Given the description of an element on the screen output the (x, y) to click on. 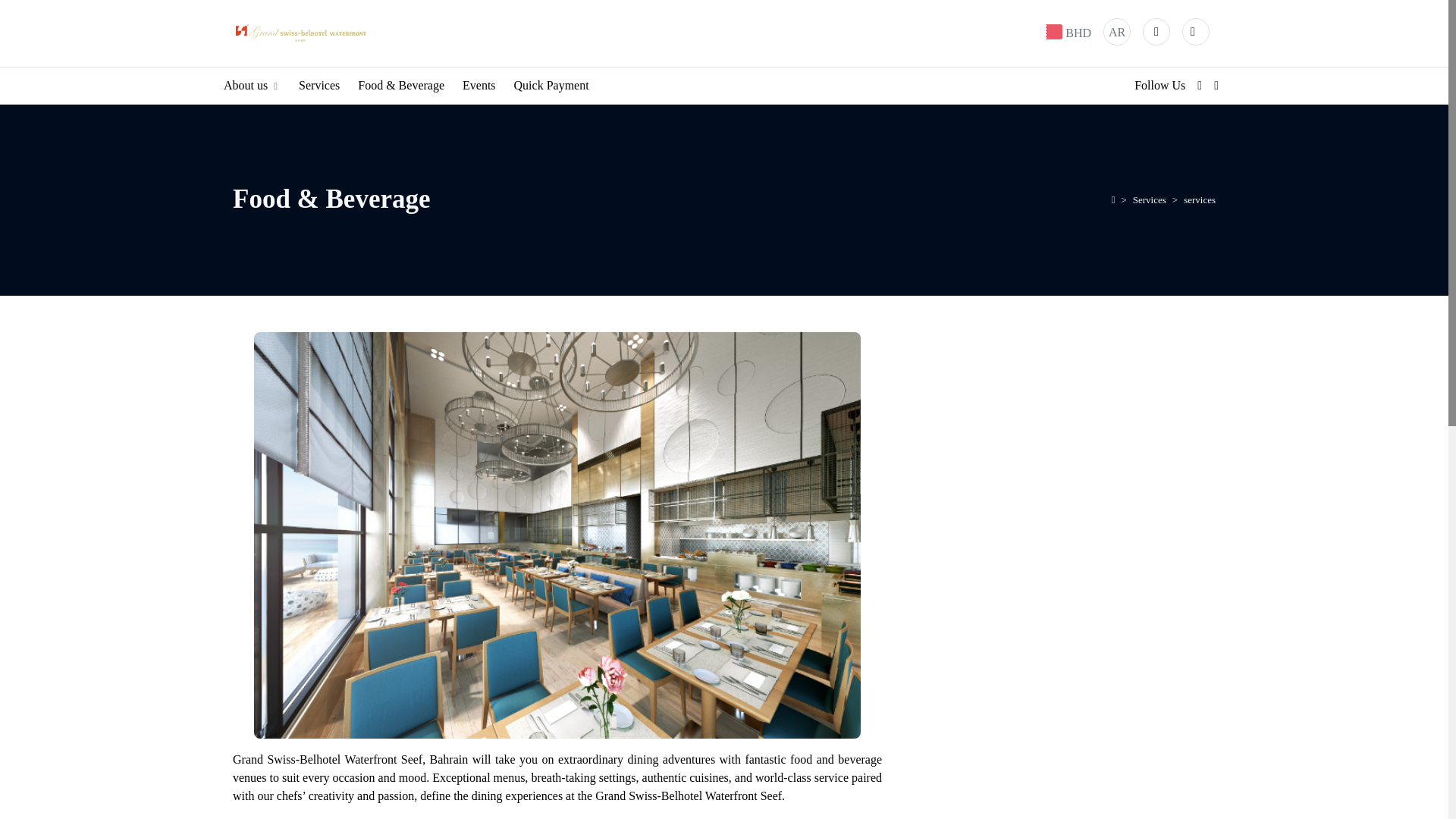
AR (1116, 31)
About us (252, 85)
Events (479, 85)
BHD (1077, 32)
Quick Payment (551, 85)
Services (318, 85)
